Given the description of an element on the screen output the (x, y) to click on. 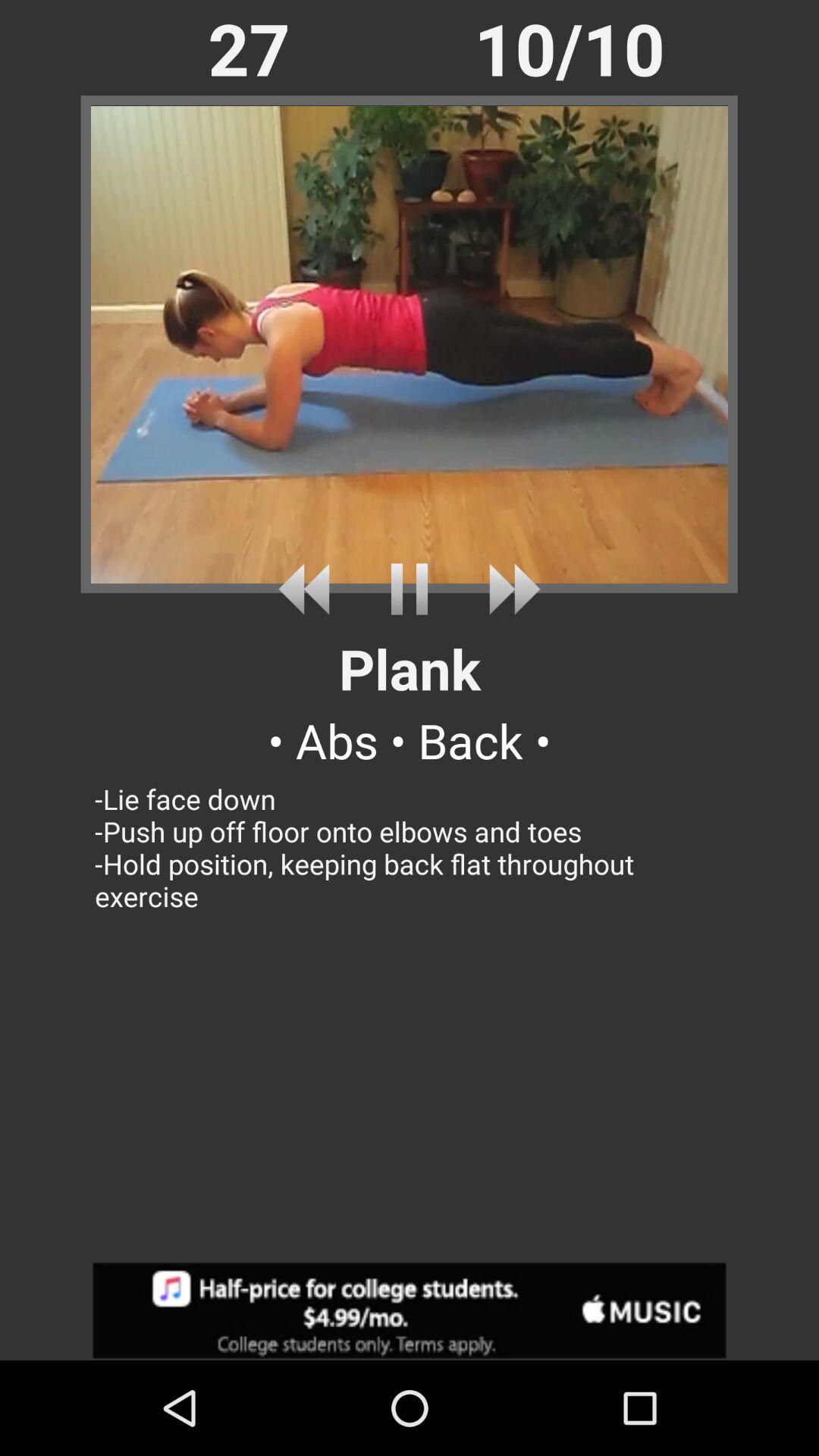
next (309, 589)
